Given the description of an element on the screen output the (x, y) to click on. 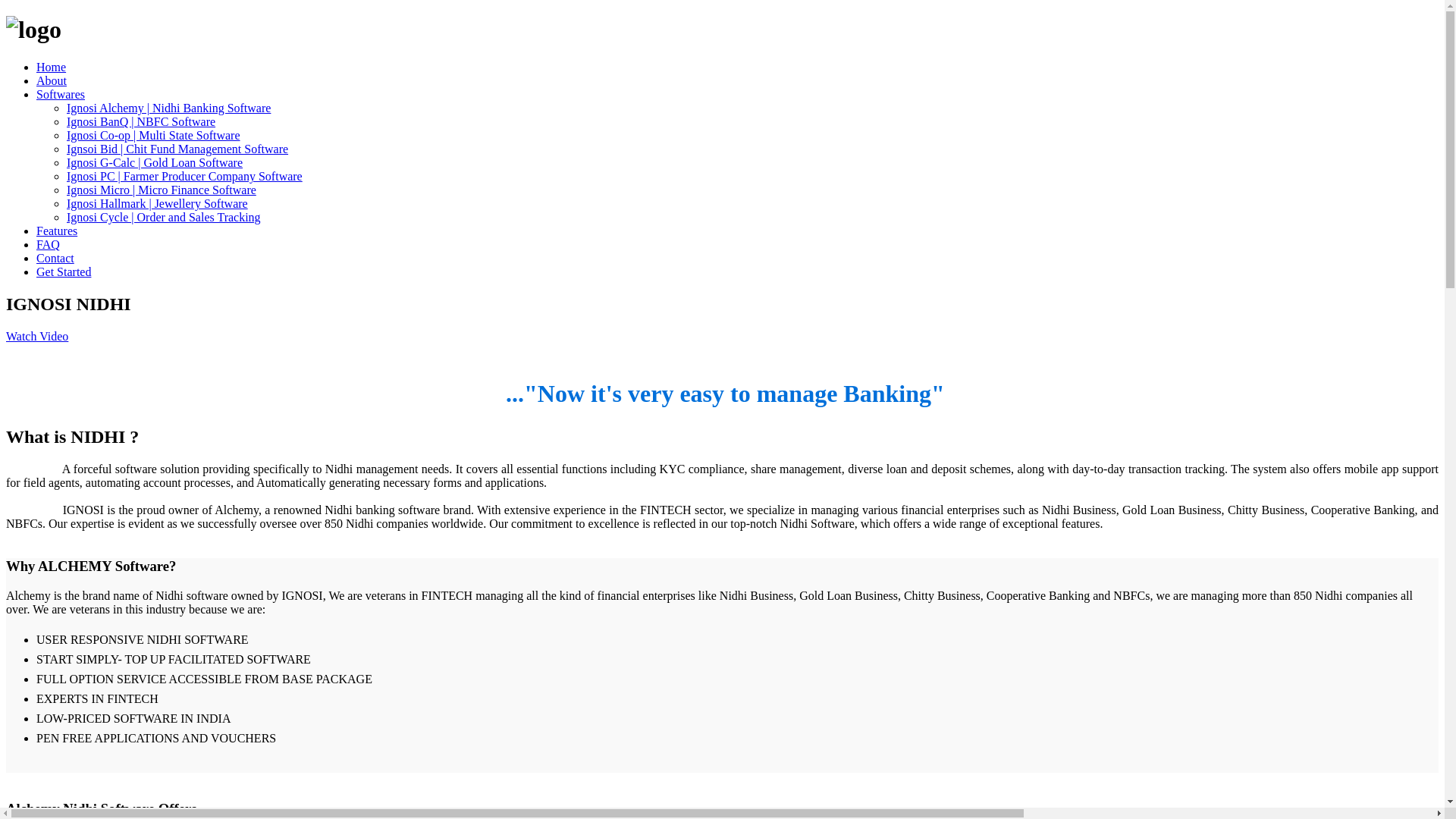
FAQ (47, 244)
Watch Video (36, 336)
About (51, 80)
Get Started (63, 271)
About (51, 80)
Home (50, 66)
Get Started (63, 271)
Features (56, 230)
Contact (55, 257)
Softwares (60, 93)
Contact (55, 257)
Home (50, 66)
Features (56, 230)
FAQ (47, 244)
